Given the description of an element on the screen output the (x, y) to click on. 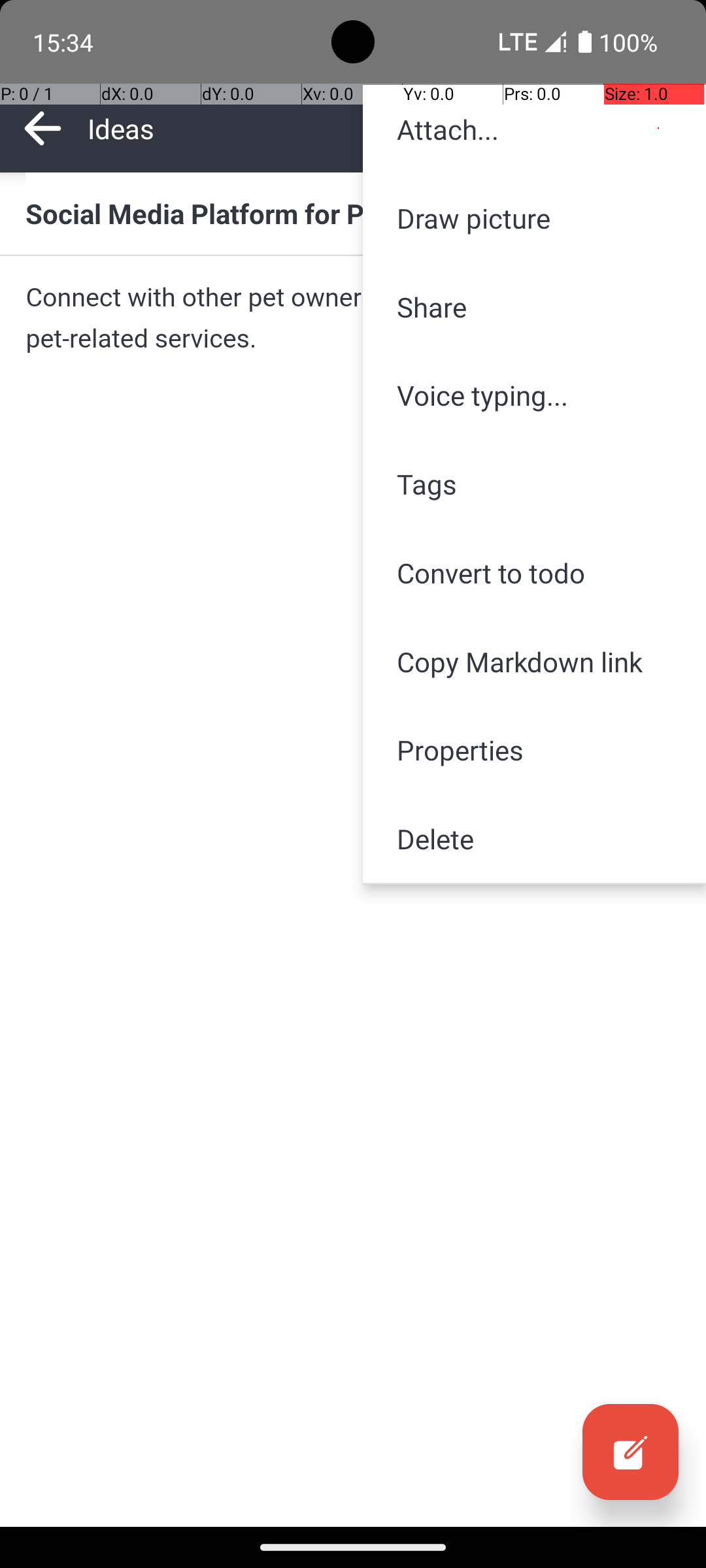
Attach... Element type: android.widget.TextView (534, 129)
Draw picture Element type: android.widget.TextView (534, 217)
Voice typing... Element type: android.widget.TextView (534, 395)
Convert to todo Element type: android.widget.TextView (534, 572)
Copy Markdown link Element type: android.widget.TextView (534, 661)
Properties Element type: android.widget.TextView (534, 749)
Connect with other pet owners, share photos, and find pet-related services. Element type: android.widget.TextView (352, 317)
